Given the description of an element on the screen output the (x, y) to click on. 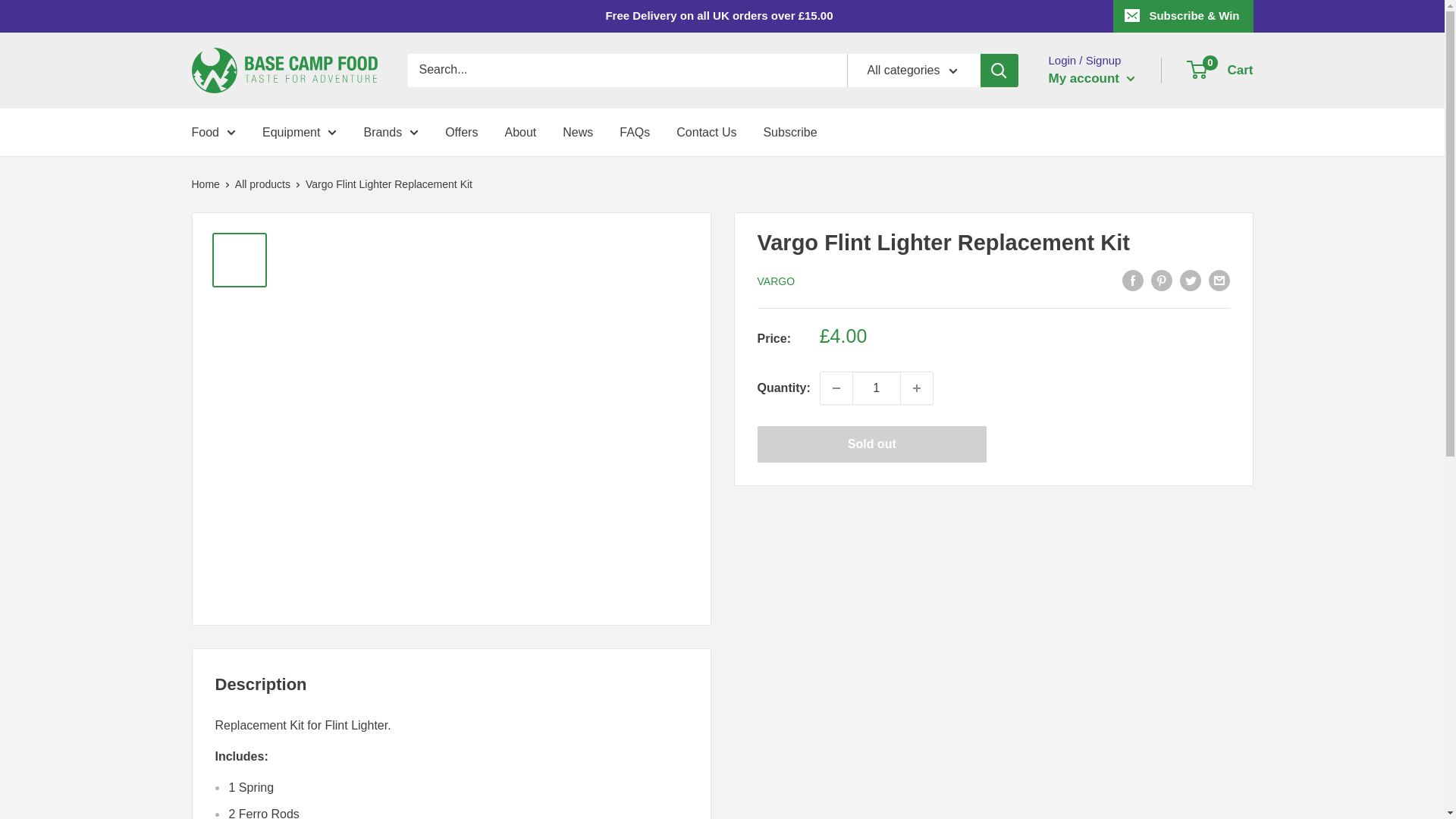
1 (876, 388)
Increase quantity by 1 (917, 388)
Decrease quantity by 1 (836, 388)
